Given the description of an element on the screen output the (x, y) to click on. 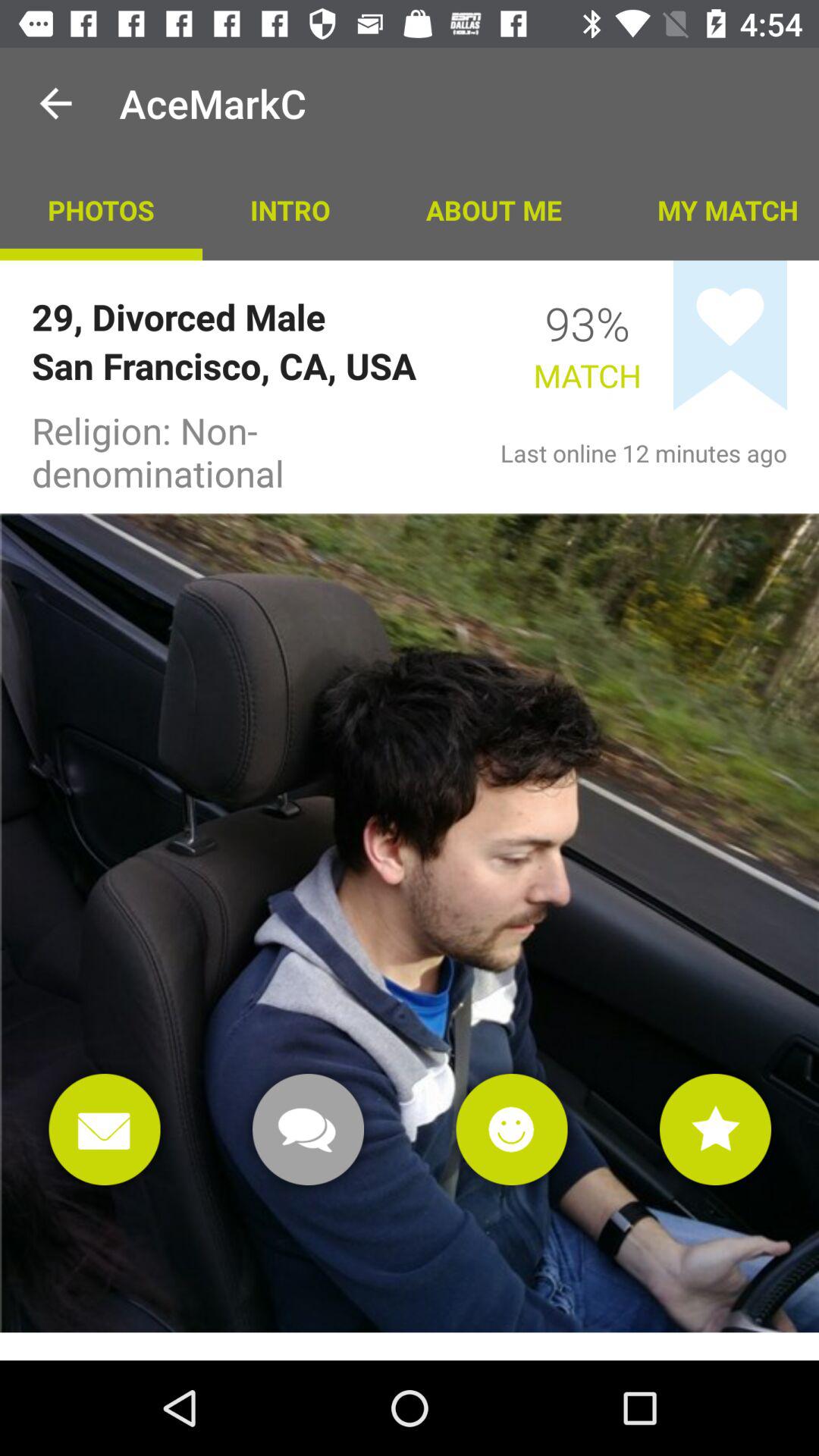
message user (307, 1129)
